Given the description of an element on the screen output the (x, y) to click on. 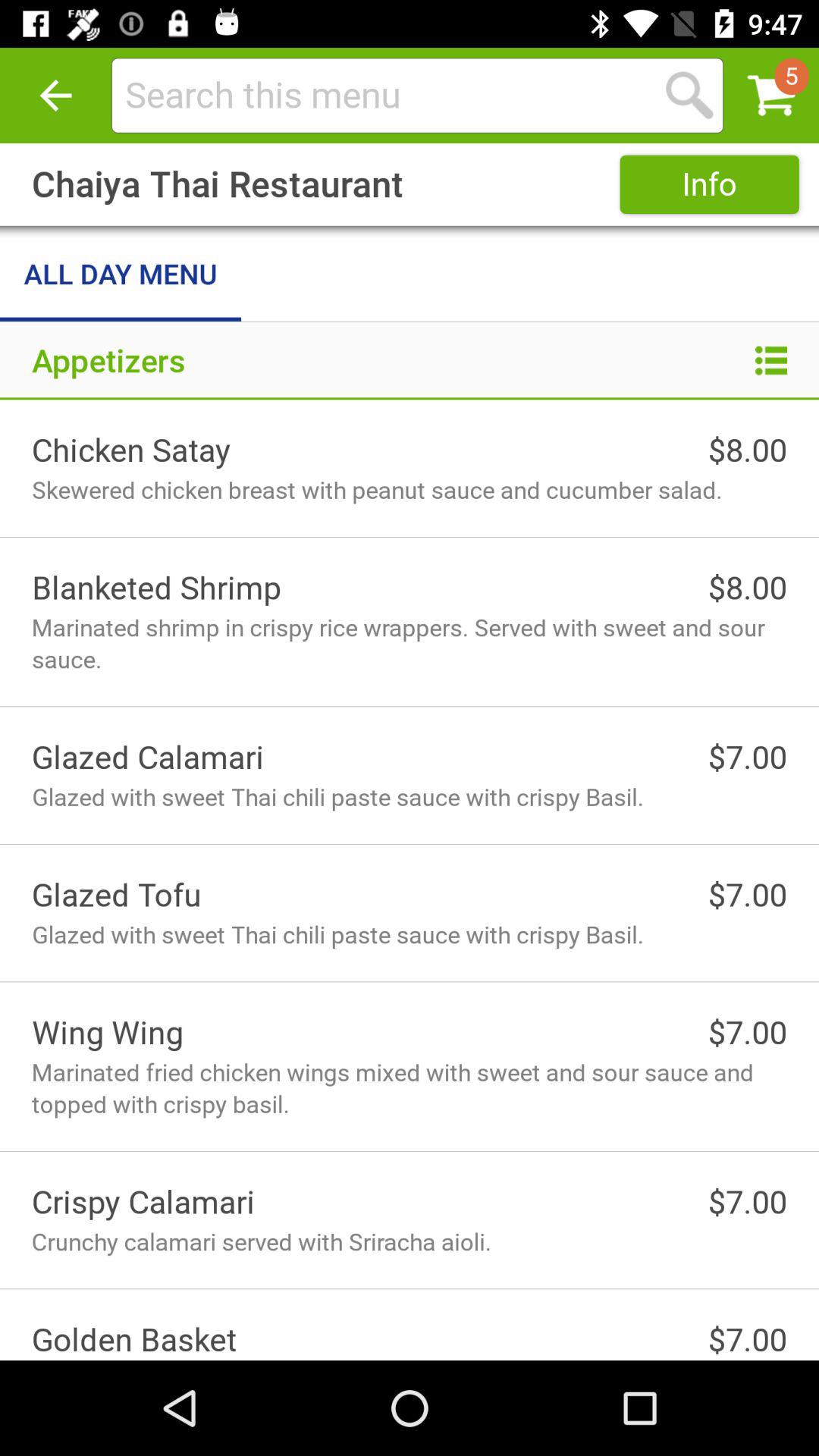
click icon above chaiya thai restaurant item (55, 95)
